Given the description of an element on the screen output the (x, y) to click on. 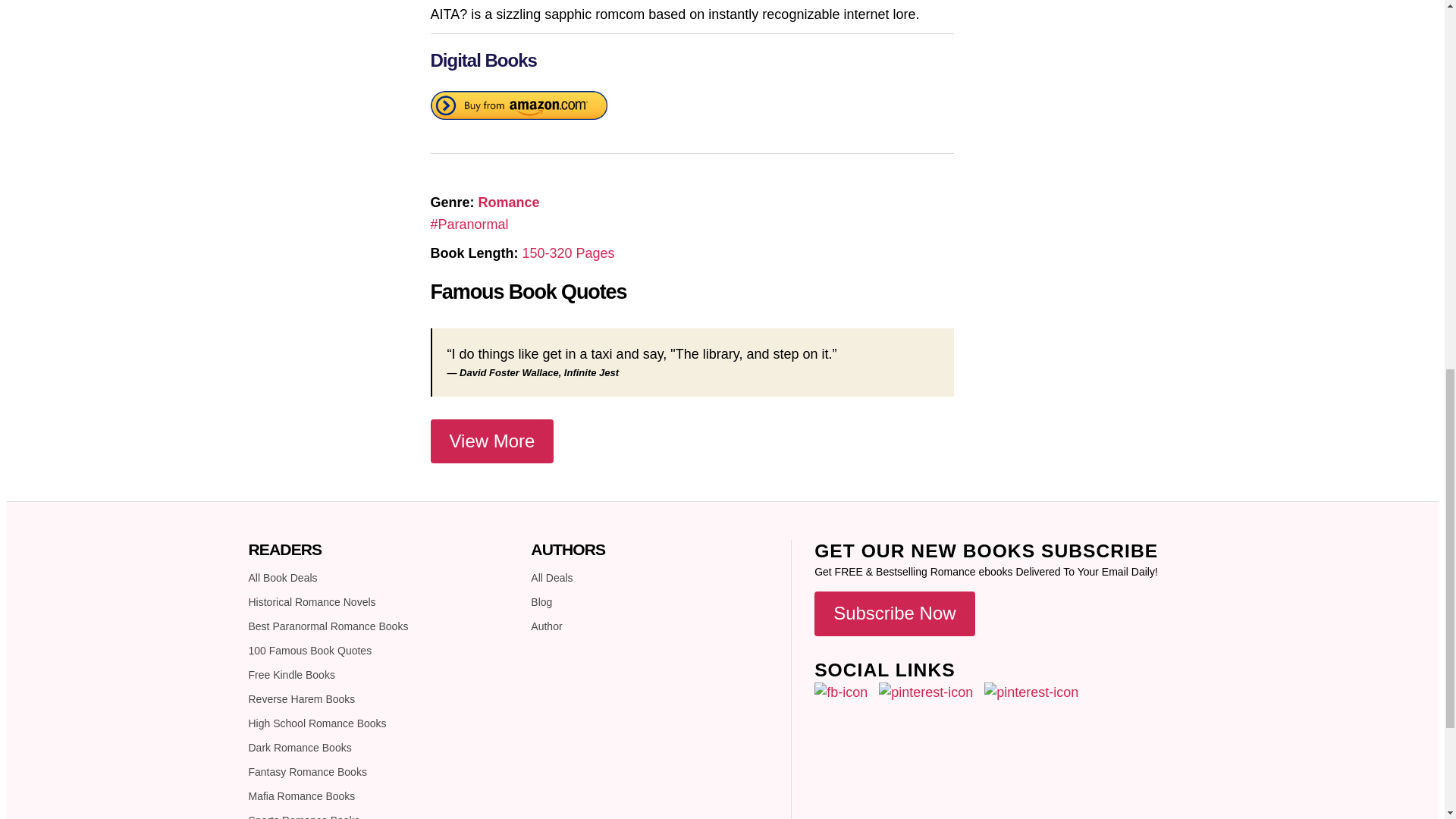
Amazon (518, 108)
